Given the description of an element on the screen output the (x, y) to click on. 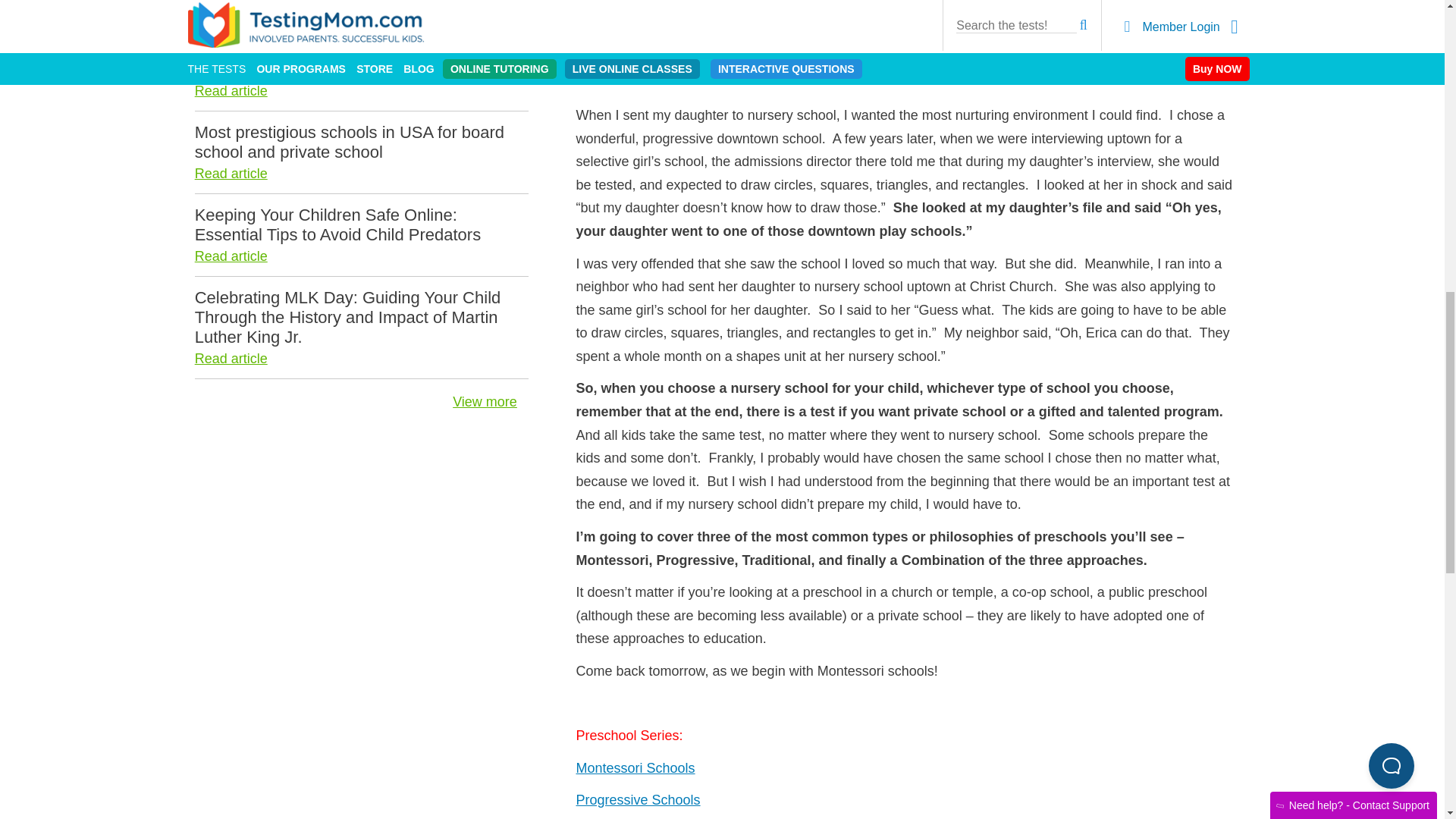
Progressive Preschool (638, 799)
Montessori Schools (635, 767)
